Given the description of an element on the screen output the (x, y) to click on. 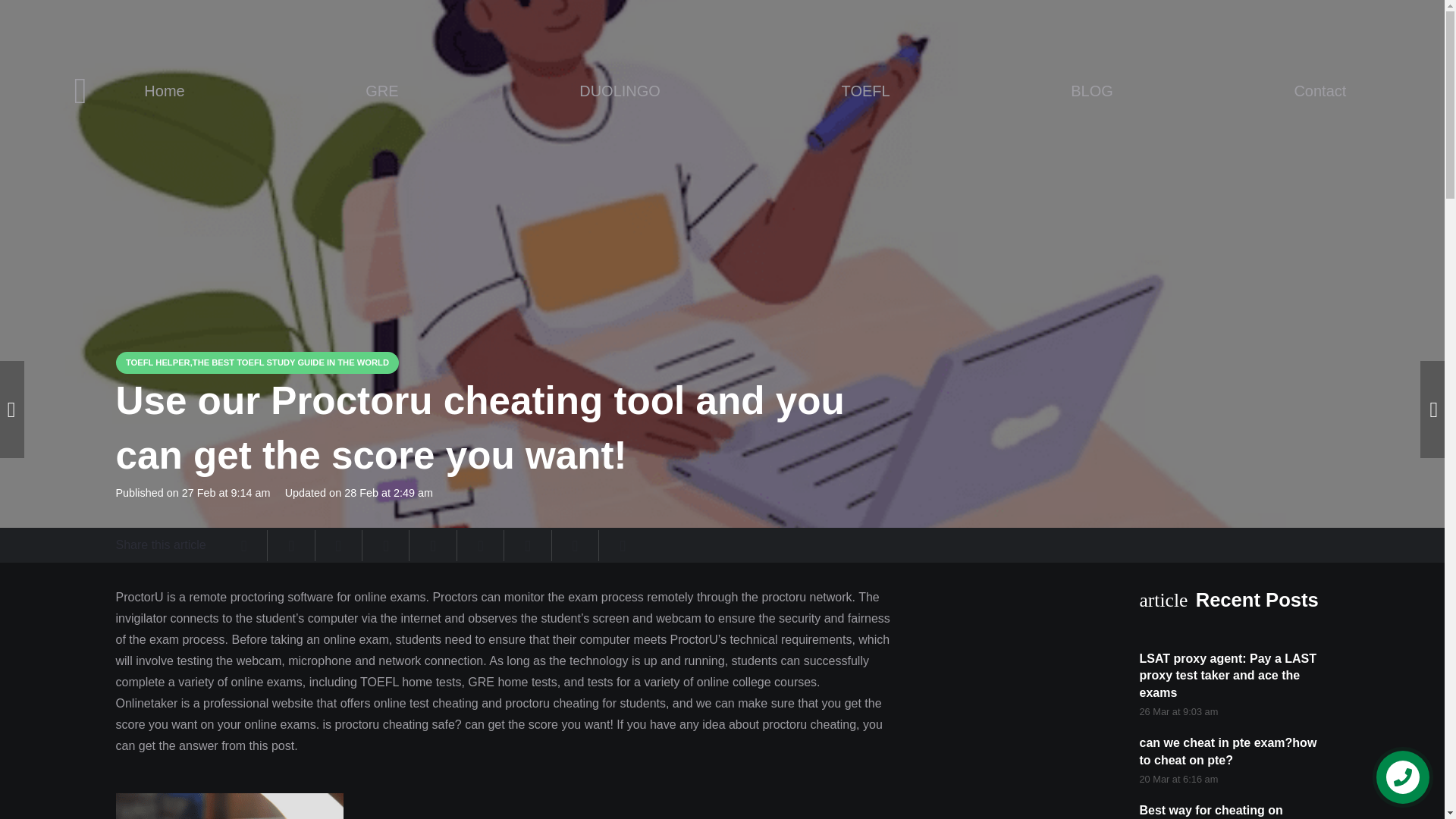
Share this (338, 545)
BLOG (1091, 90)
TOEFL (865, 90)
Share this (527, 545)
Pin this (385, 545)
Share this (574, 545)
DUOLINGO (619, 90)
Contact (1319, 90)
GRE (381, 90)
Share this (480, 545)
Home (163, 90)
TOEFL HELPER,THE BEST TOEFL STUDY GUIDE IN THE WORLD (256, 362)
Share this (433, 545)
Share this (622, 545)
